Given the description of an element on the screen output the (x, y) to click on. 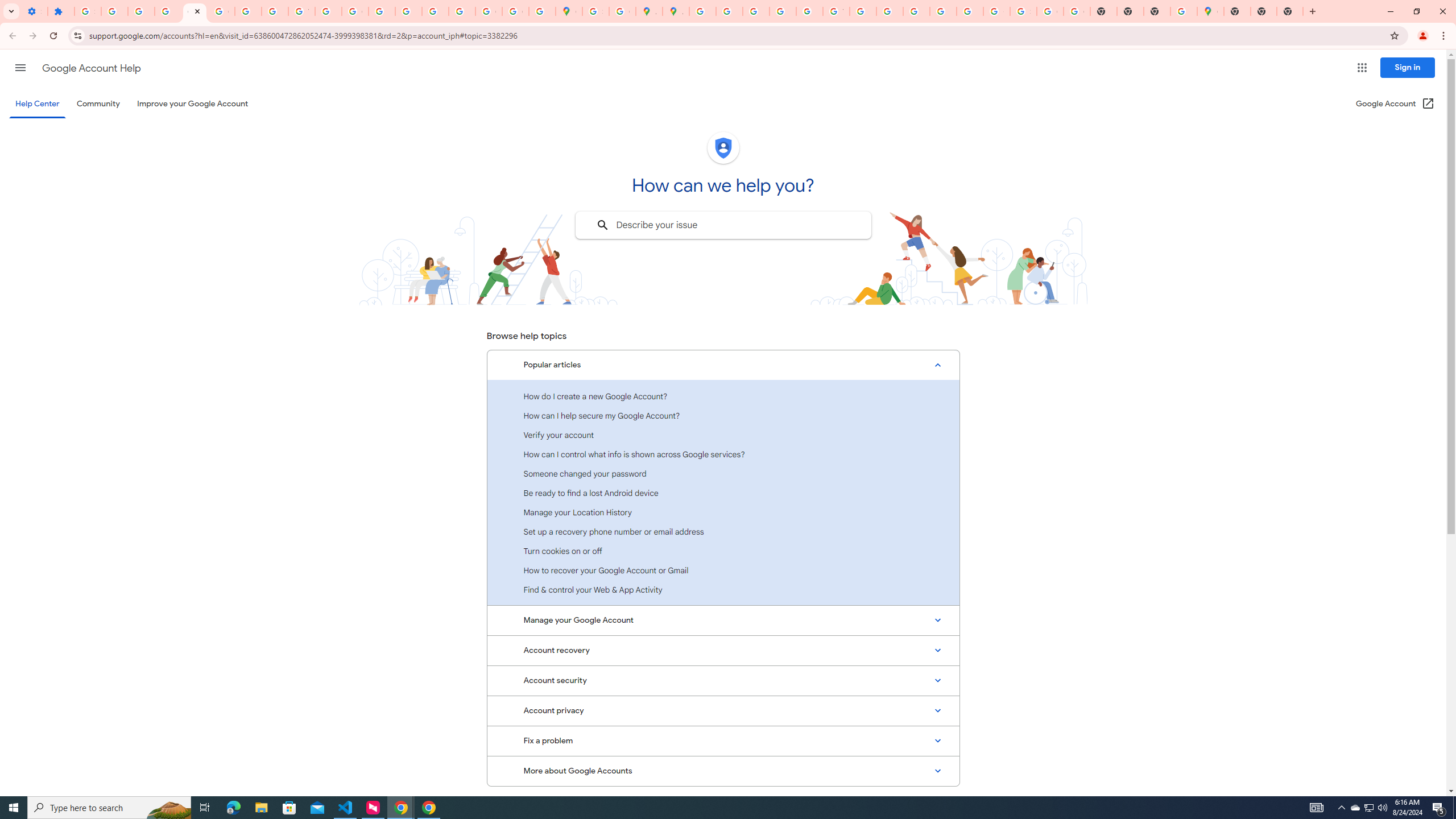
Create your Google Account (622, 11)
Sign in - Google Accounts (595, 11)
Improve your Google Account (192, 103)
Delete photos & videos - Computer - Google Photos Help (114, 11)
Google Account (Open in a new window) (1395, 103)
